Given the description of an element on the screen output the (x, y) to click on. 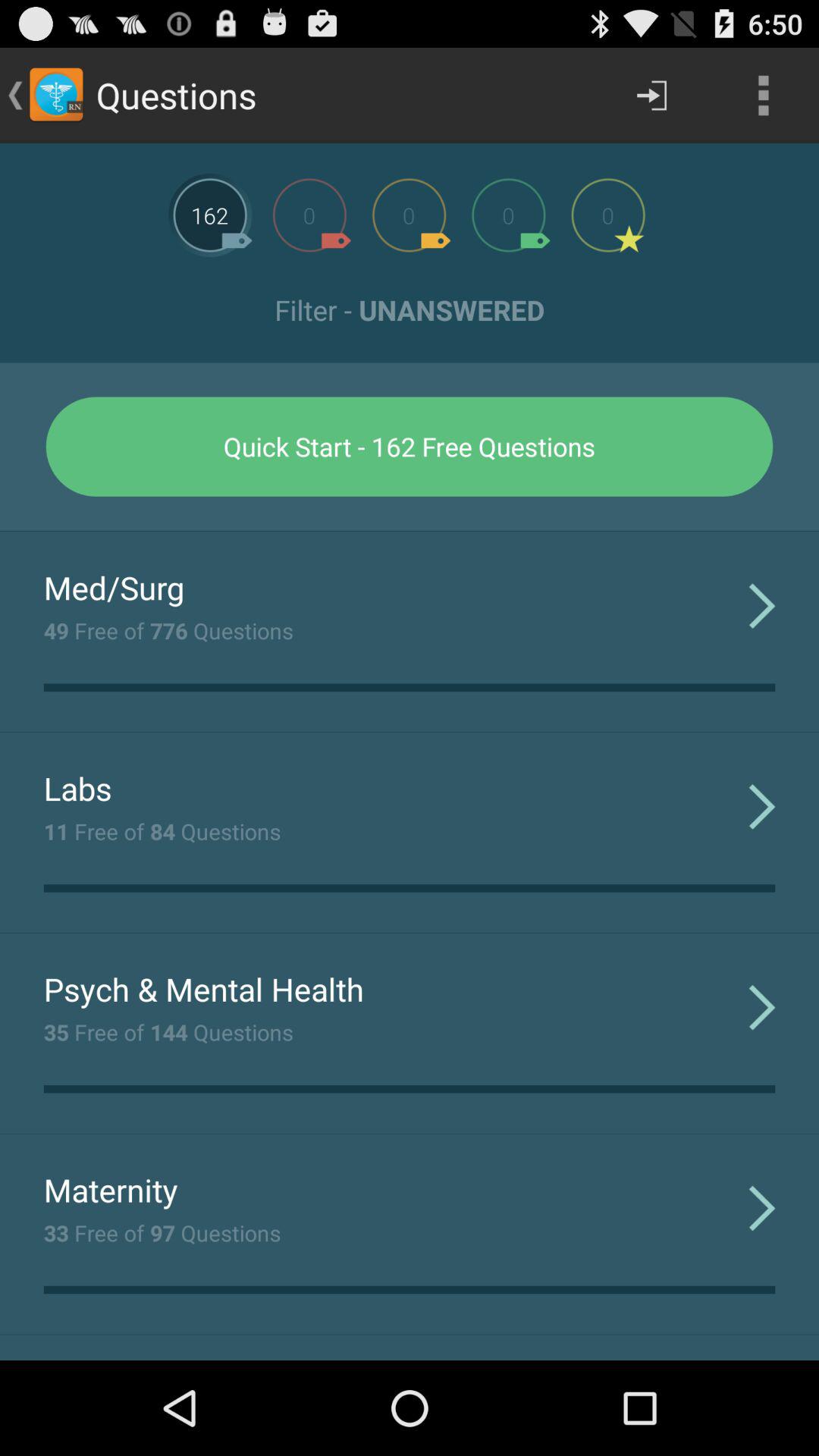
open the app above med/surg app (409, 530)
